Given the description of an element on the screen output the (x, y) to click on. 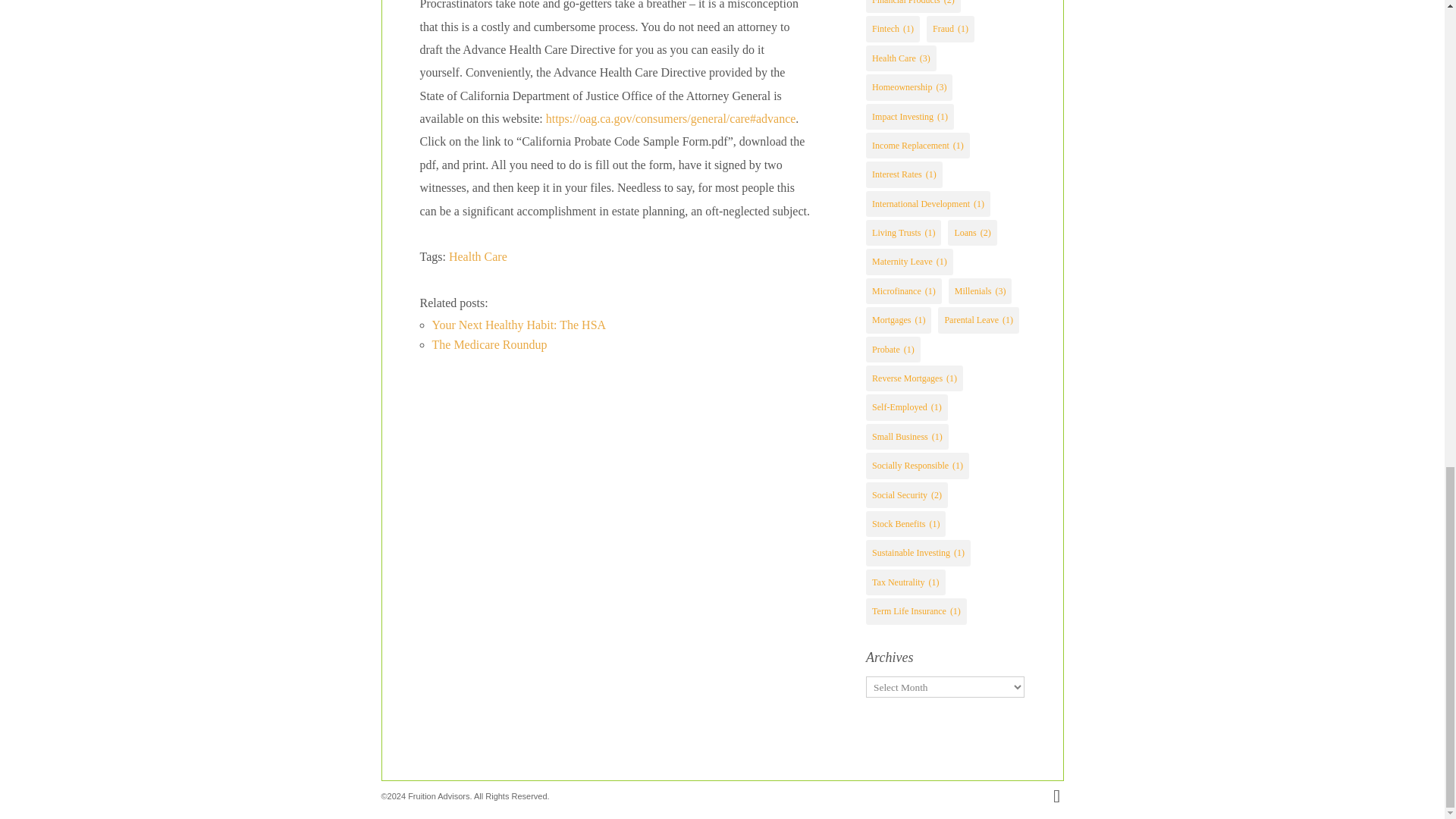
Your Next Healthy Habit: The HSA (519, 324)
The Medicare Roundup (489, 344)
Health Care (477, 256)
Health Care (477, 256)
